Given the description of an element on the screen output the (x, y) to click on. 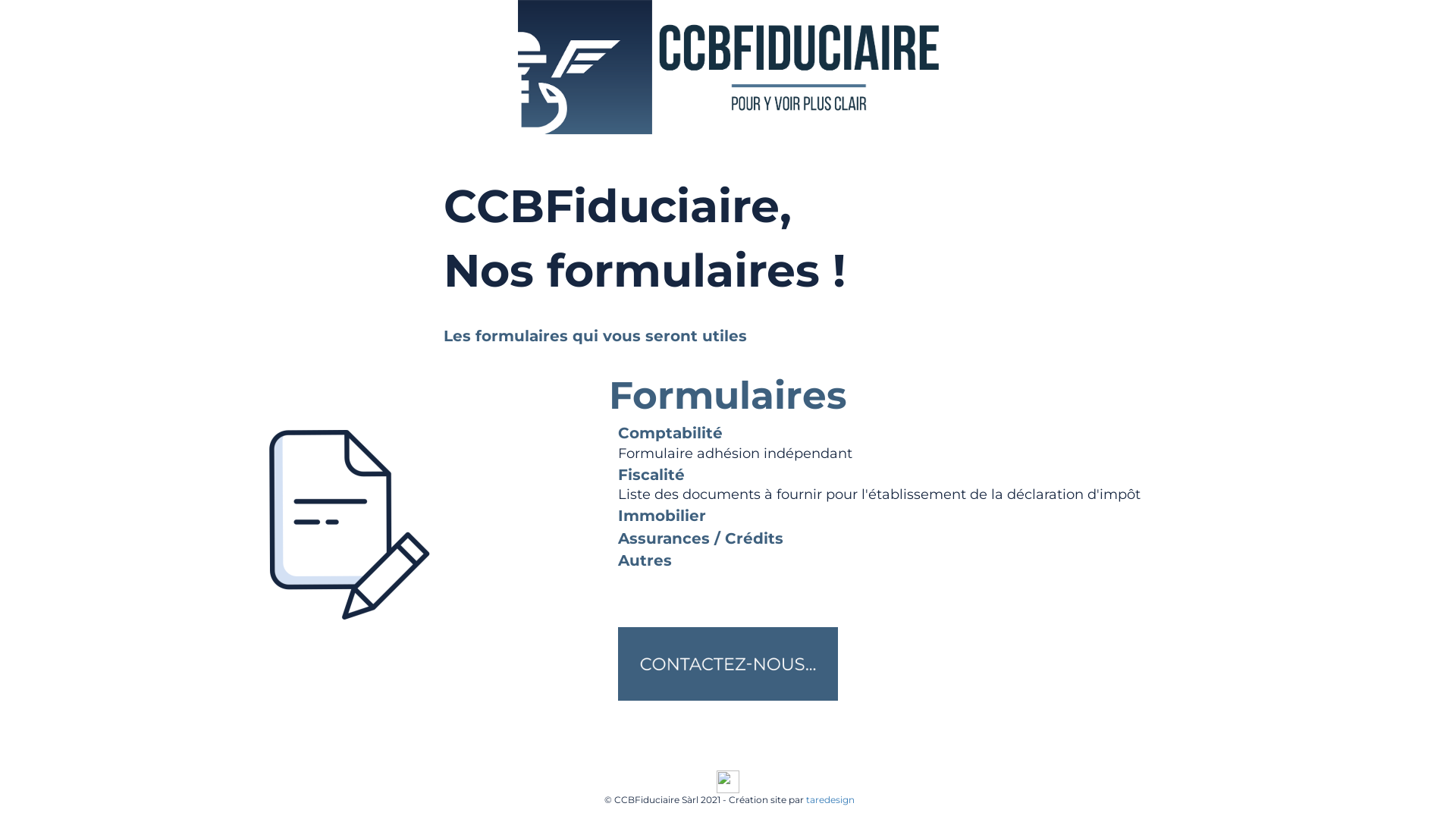
taredesign Element type: text (829, 799)
info@ccbfiduciaire.ch Element type: text (588, 762)
immobilier@ccbfiduciaire.ch Element type: text (711, 762)
assurances@ccbfiduciaire.ch Element type: text (850, 762)
